Given the description of an element on the screen output the (x, y) to click on. 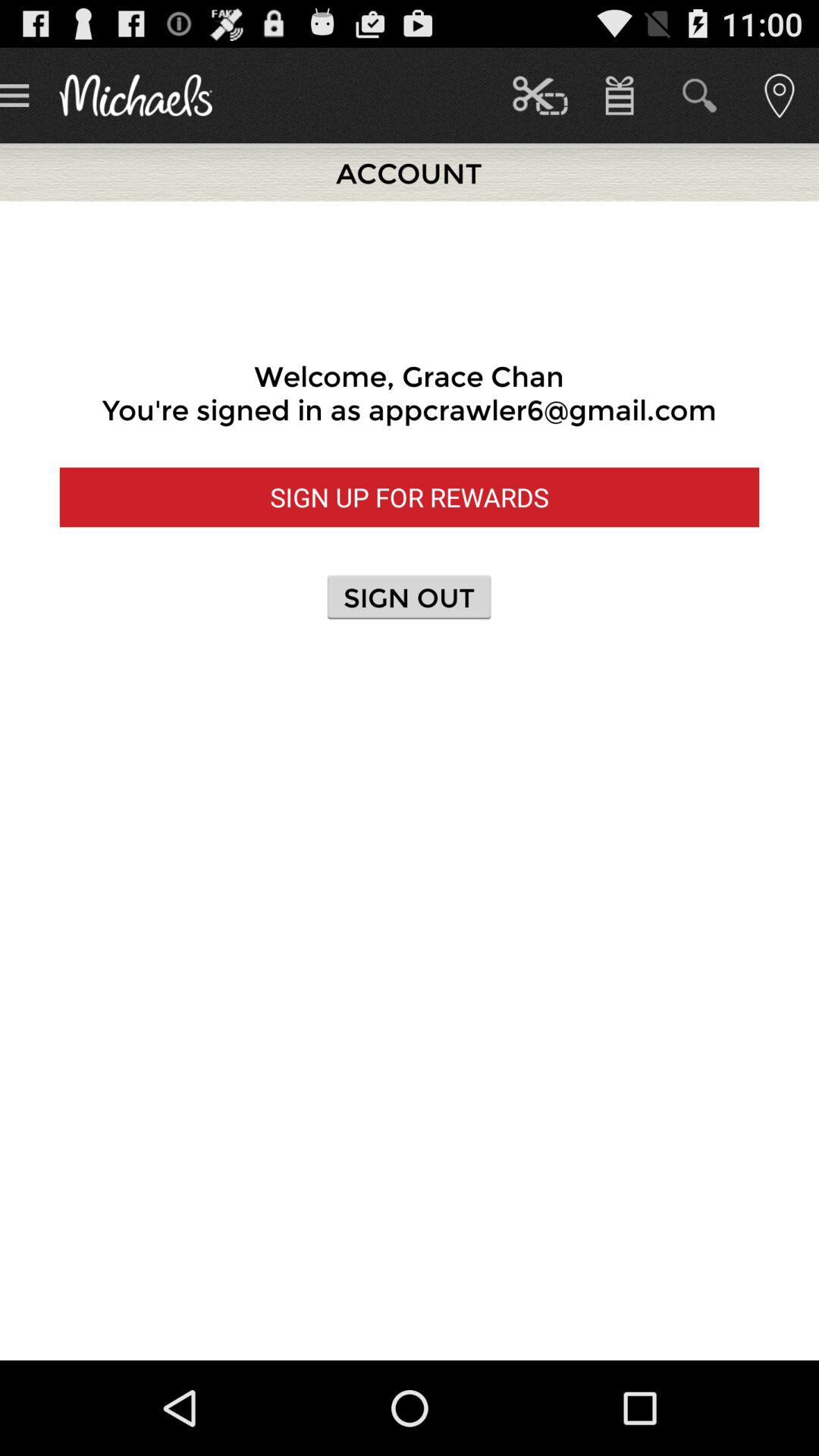
press the app to the right of the account icon (540, 95)
